Given the description of an element on the screen output the (x, y) to click on. 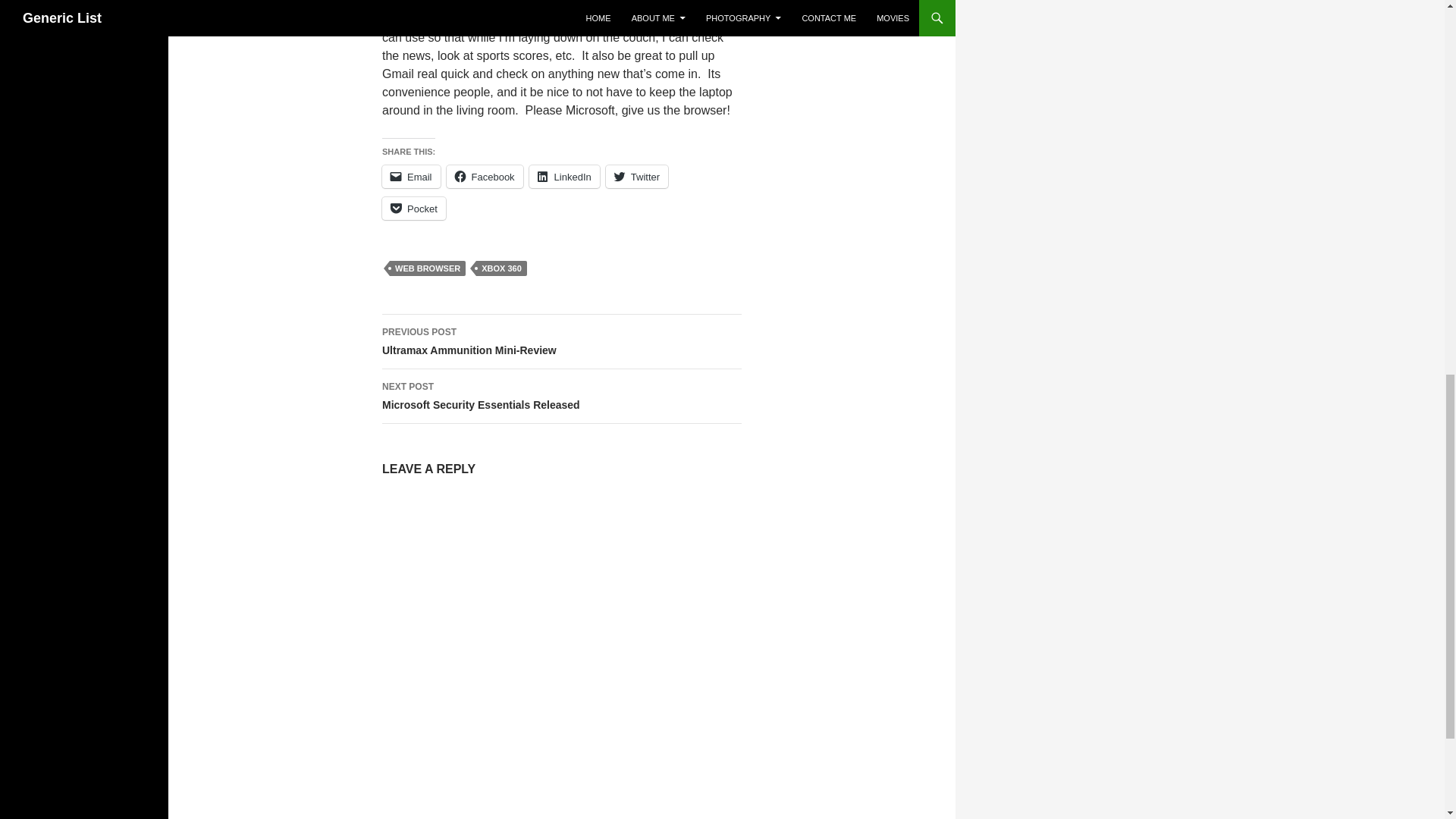
Click to share on Facebook (484, 176)
LinkedIn (564, 176)
Twitter (636, 176)
Click to email a link to a friend (411, 176)
WEB BROWSER (427, 268)
Facebook (484, 176)
Comment Form (561, 657)
Pocket (413, 208)
Click to share on Twitter (636, 176)
Email (411, 176)
